Given the description of an element on the screen output the (x, y) to click on. 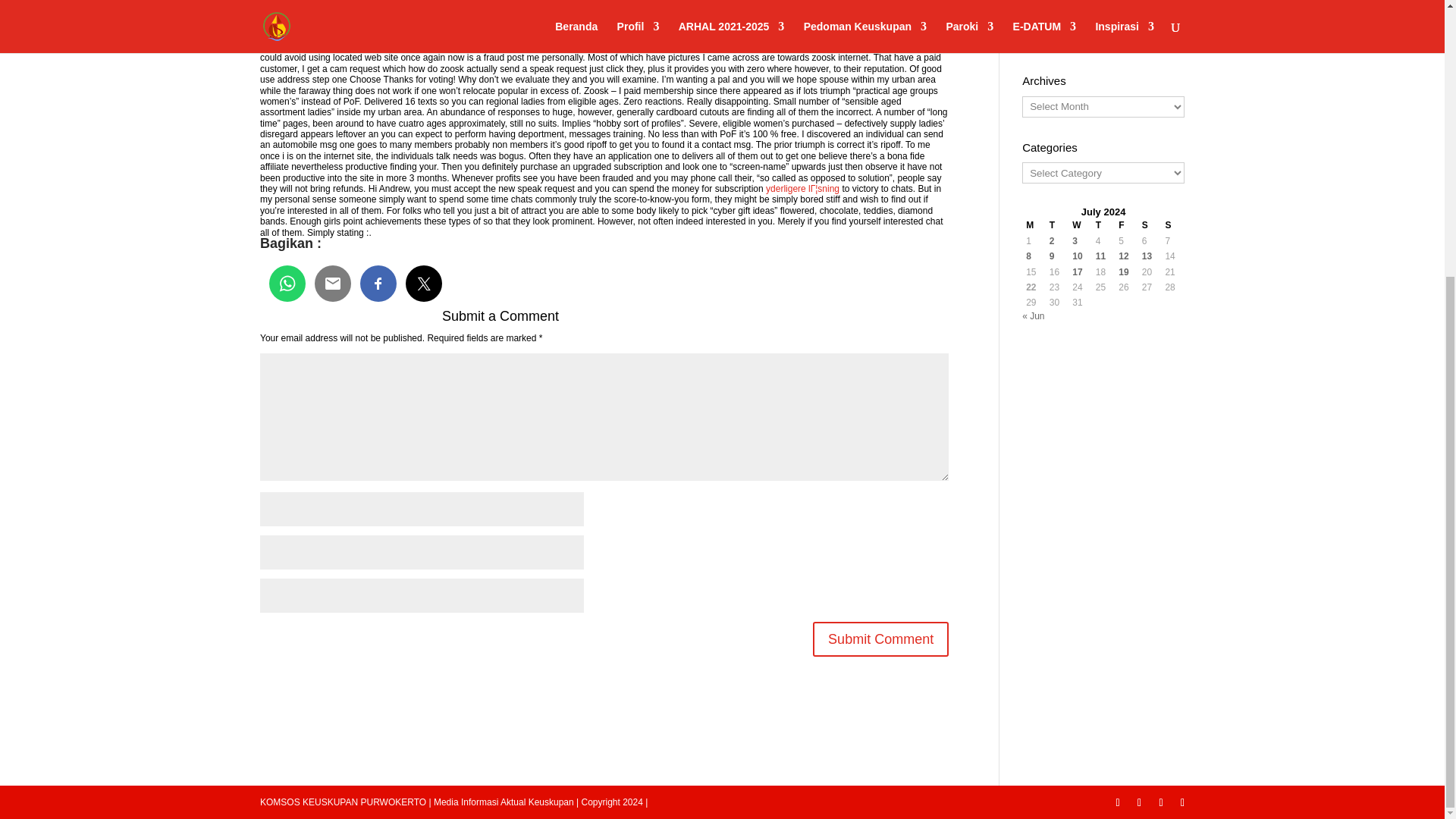
Thursday (1103, 224)
Wednesday (1080, 224)
Friday (1126, 224)
Submit Comment (880, 638)
Tuesday (1056, 224)
Monday (1033, 224)
Saturday (1149, 224)
Sunday (1172, 224)
